Given the description of an element on the screen output the (x, y) to click on. 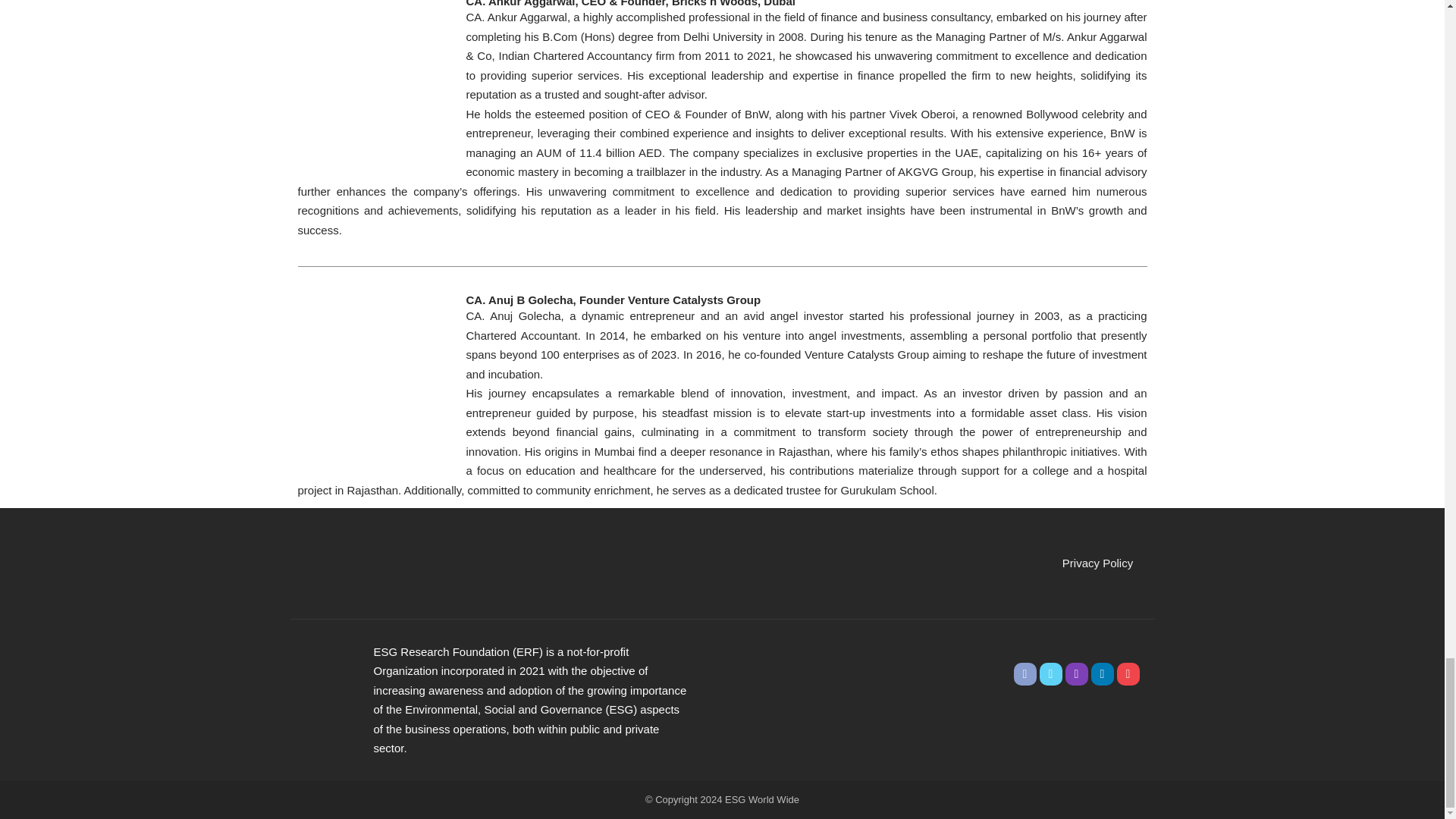
ESG Research Foundation (323, 671)
